Given the description of an element on the screen output the (x, y) to click on. 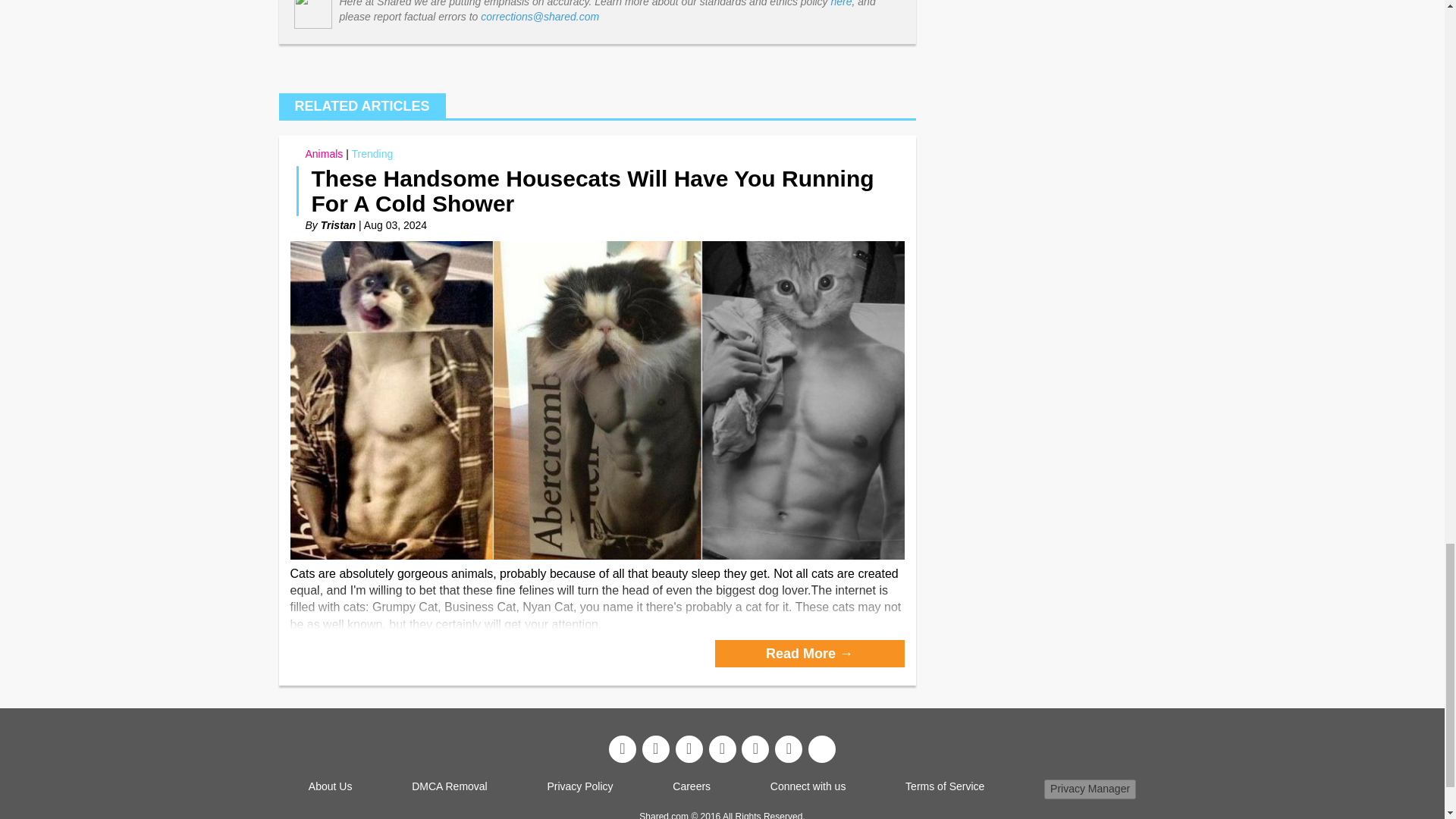
Tristan's Profile (337, 224)
Animals (323, 153)
here (841, 3)
Tristan (337, 224)
Trending (371, 153)
